Given the description of an element on the screen output the (x, y) to click on. 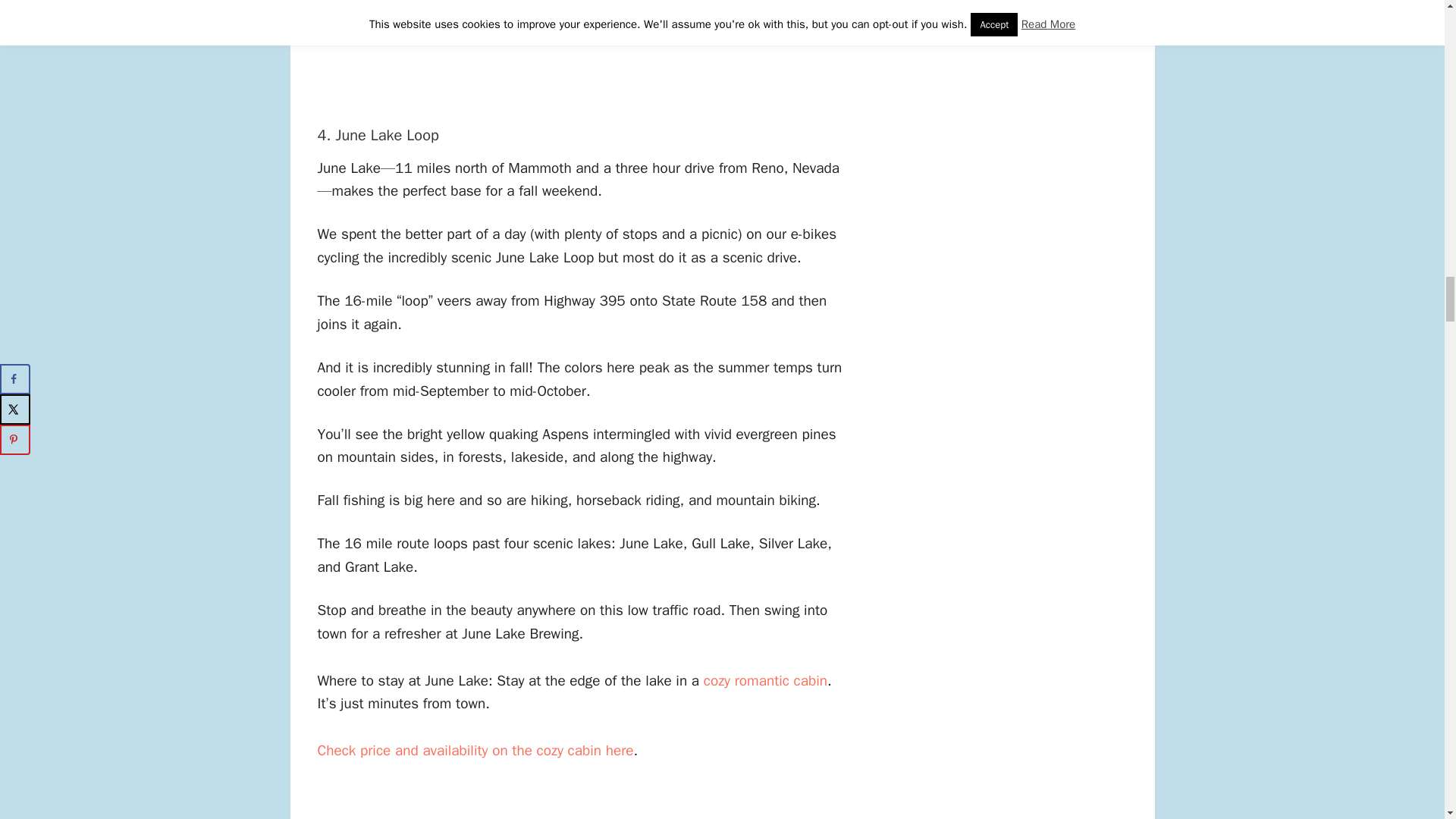
CA fall colors - June Lake Lakeside cabins (475, 751)
CA fall colors - June Lake Lakeside cabins (765, 680)
